Given the description of an element on the screen output the (x, y) to click on. 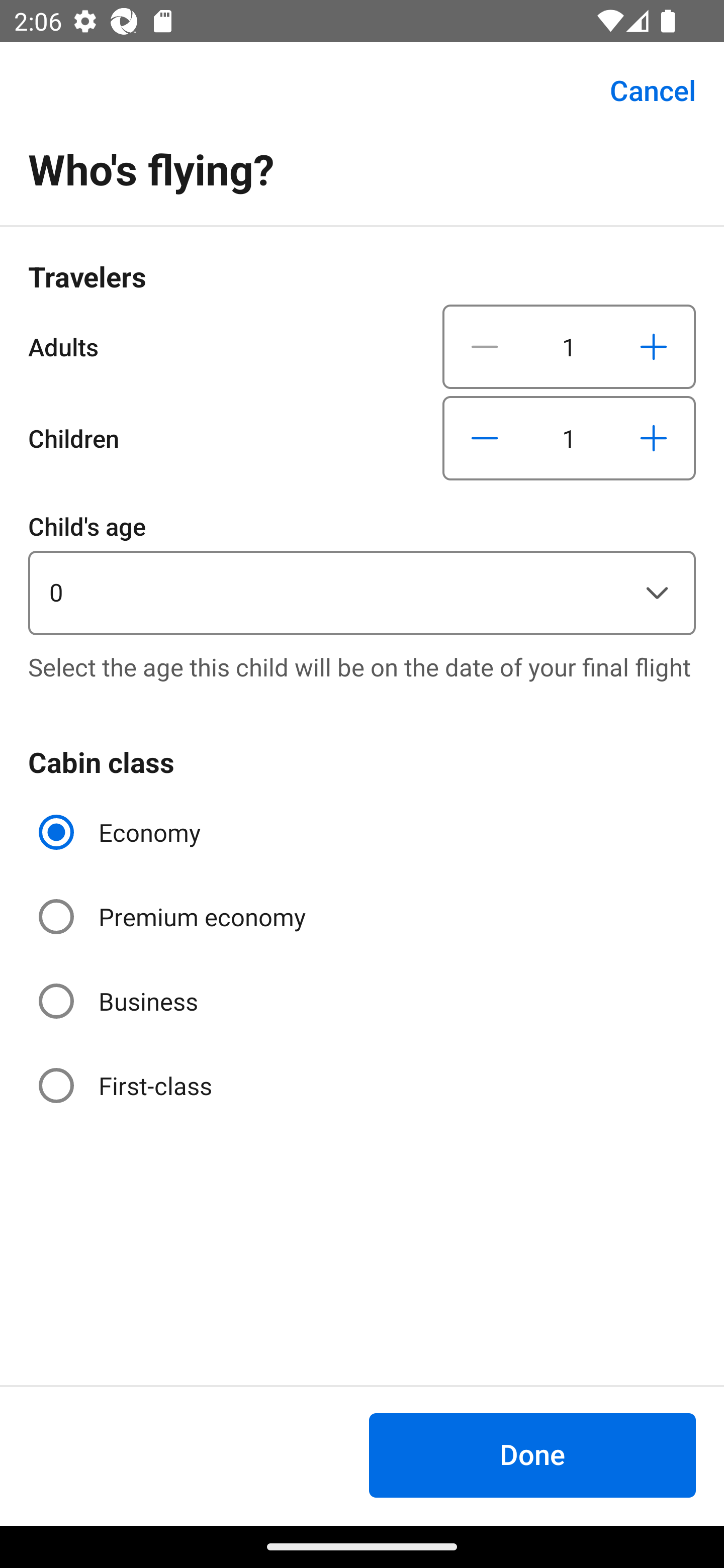
Cancel (641, 90)
Decrease (484, 346)
Increase (653, 346)
Decrease (484, 437)
Increase (653, 437)
Child's age
 Child's age 0 (361, 571)
Economy (121, 832)
Premium economy (174, 916)
Business (120, 1000)
First-class (126, 1084)
Done (532, 1454)
